Given the description of an element on the screen output the (x, y) to click on. 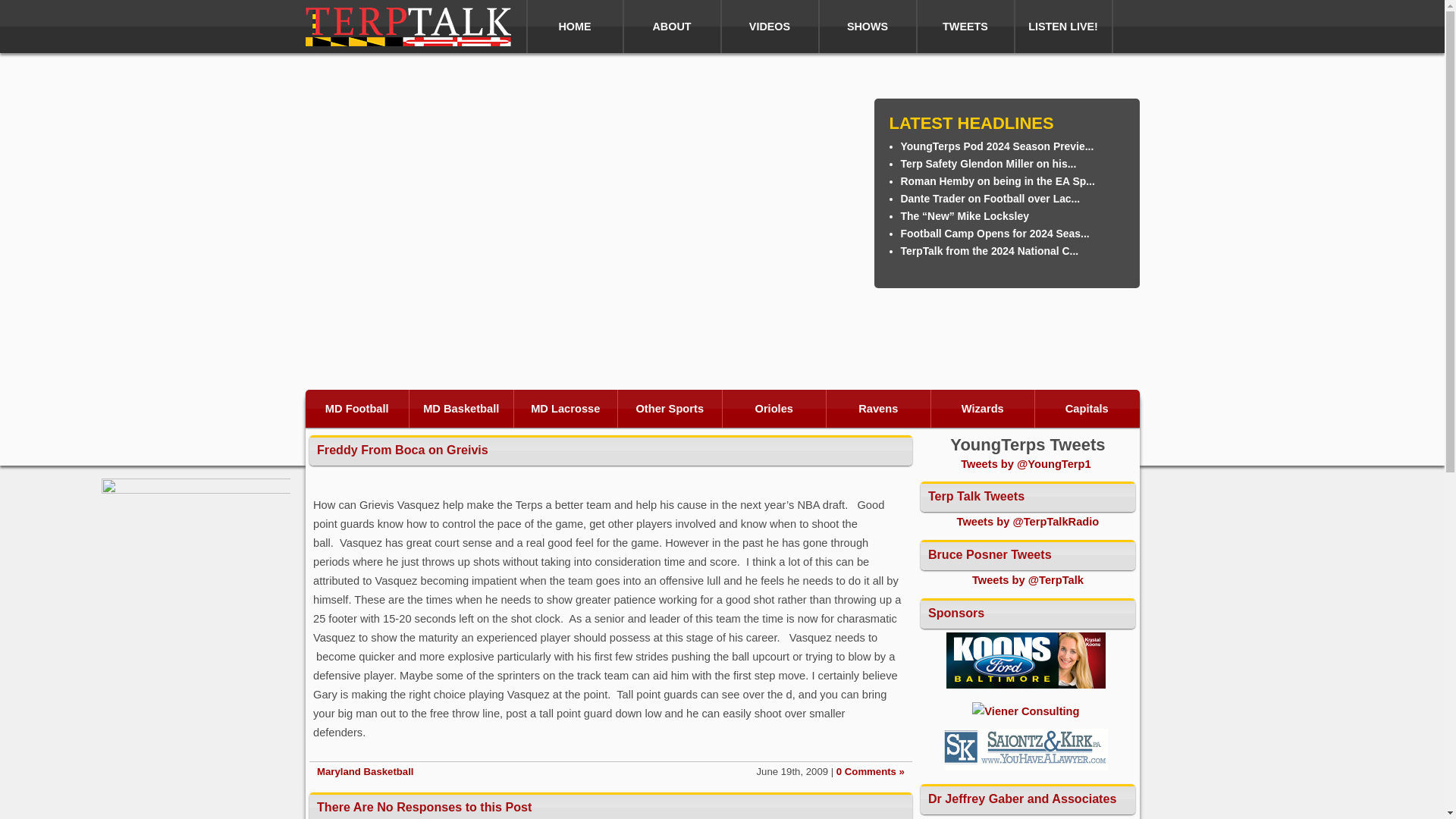
Terp Safety Glendon Miller on his... (989, 163)
MD Lacrosse (565, 408)
LISTEN LIVE! (1063, 26)
HOME (574, 26)
MD Basketball (461, 408)
Maryland Basketball (365, 771)
Dante Trader on Football over Lac... (990, 198)
SHOWS (867, 26)
Orioles (774, 408)
Ravens (879, 408)
